Given the description of an element on the screen output the (x, y) to click on. 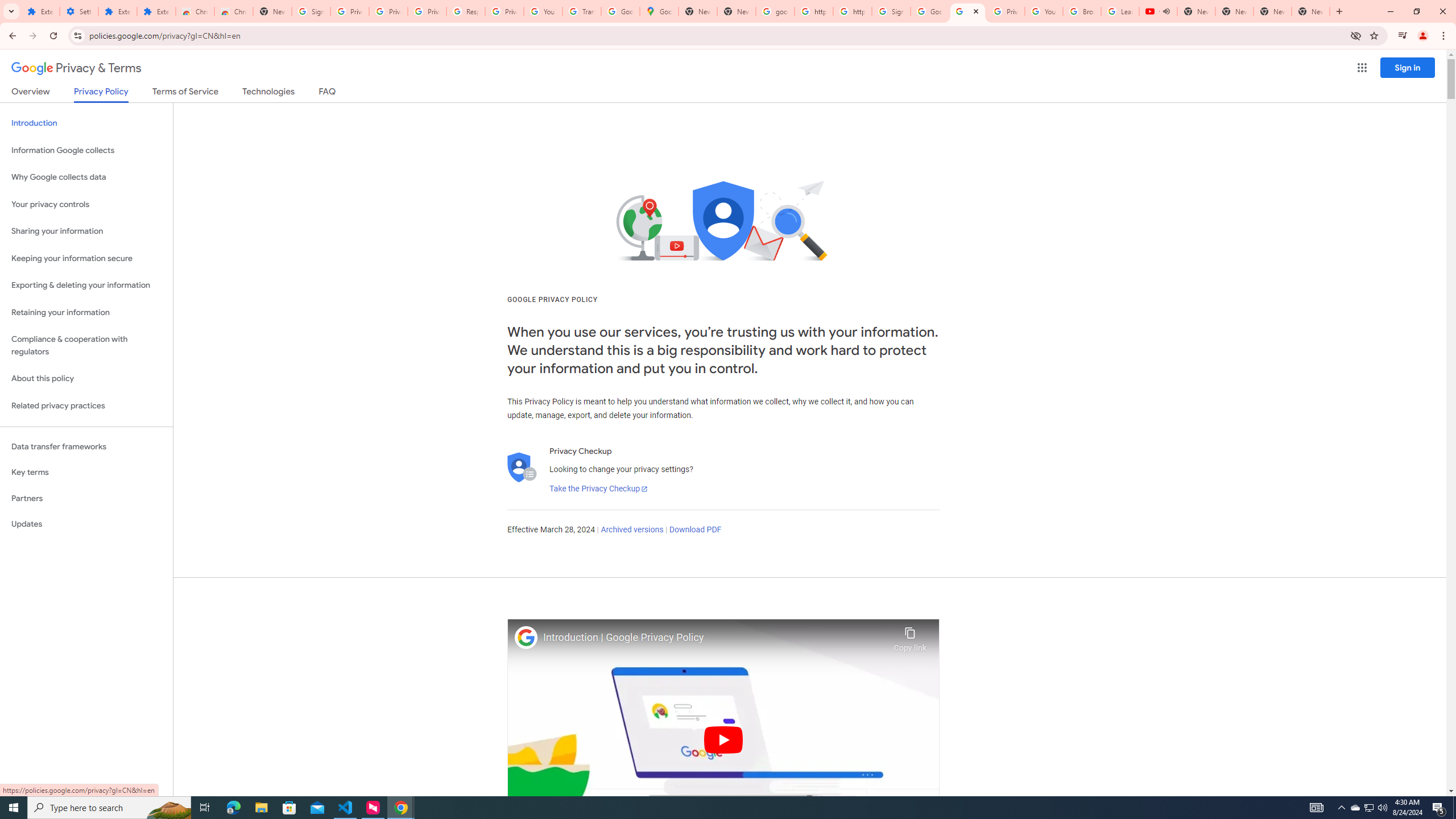
Archived versions (631, 529)
https://scholar.google.com/ (852, 11)
